Given the description of an element on the screen output the (x, y) to click on. 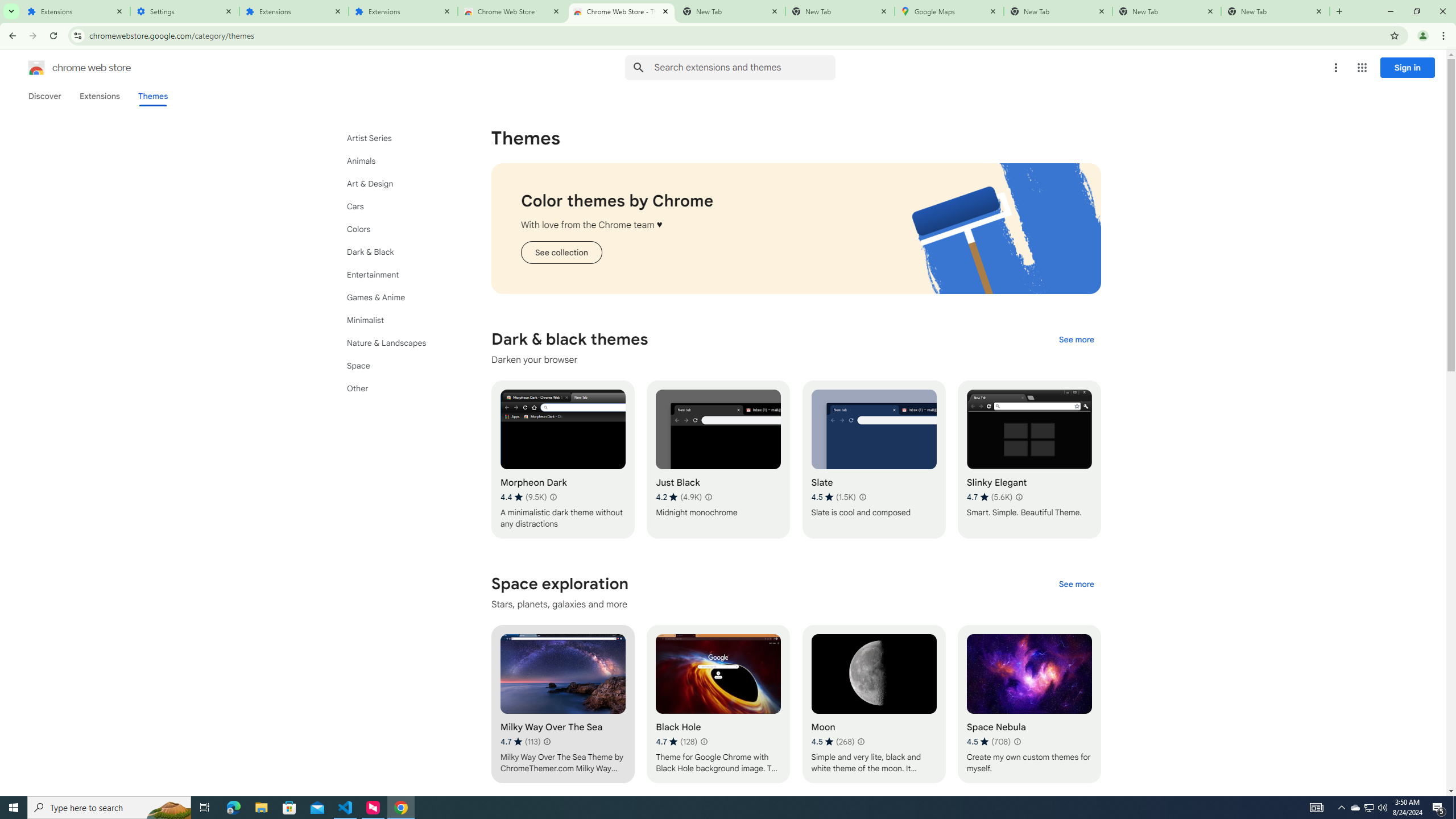
Learn more about results and reviews "Moon" (860, 741)
Milky Way Over The Sea (562, 703)
Search input (744, 67)
See more of the "Dark & black themes" collection (1075, 338)
Other (398, 387)
Space (398, 365)
Slinky Elegant (1028, 459)
See the "Color themes by Chrome" collection (560, 252)
Extensions (99, 95)
Average rating 4.5 out of 5 stars. 1.5K ratings. (833, 496)
Average rating 4.2 out of 5 stars. 4.9K ratings. (678, 496)
Learn more about results and reviews "Slinky Elegant" (1018, 496)
